Given the description of an element on the screen output the (x, y) to click on. 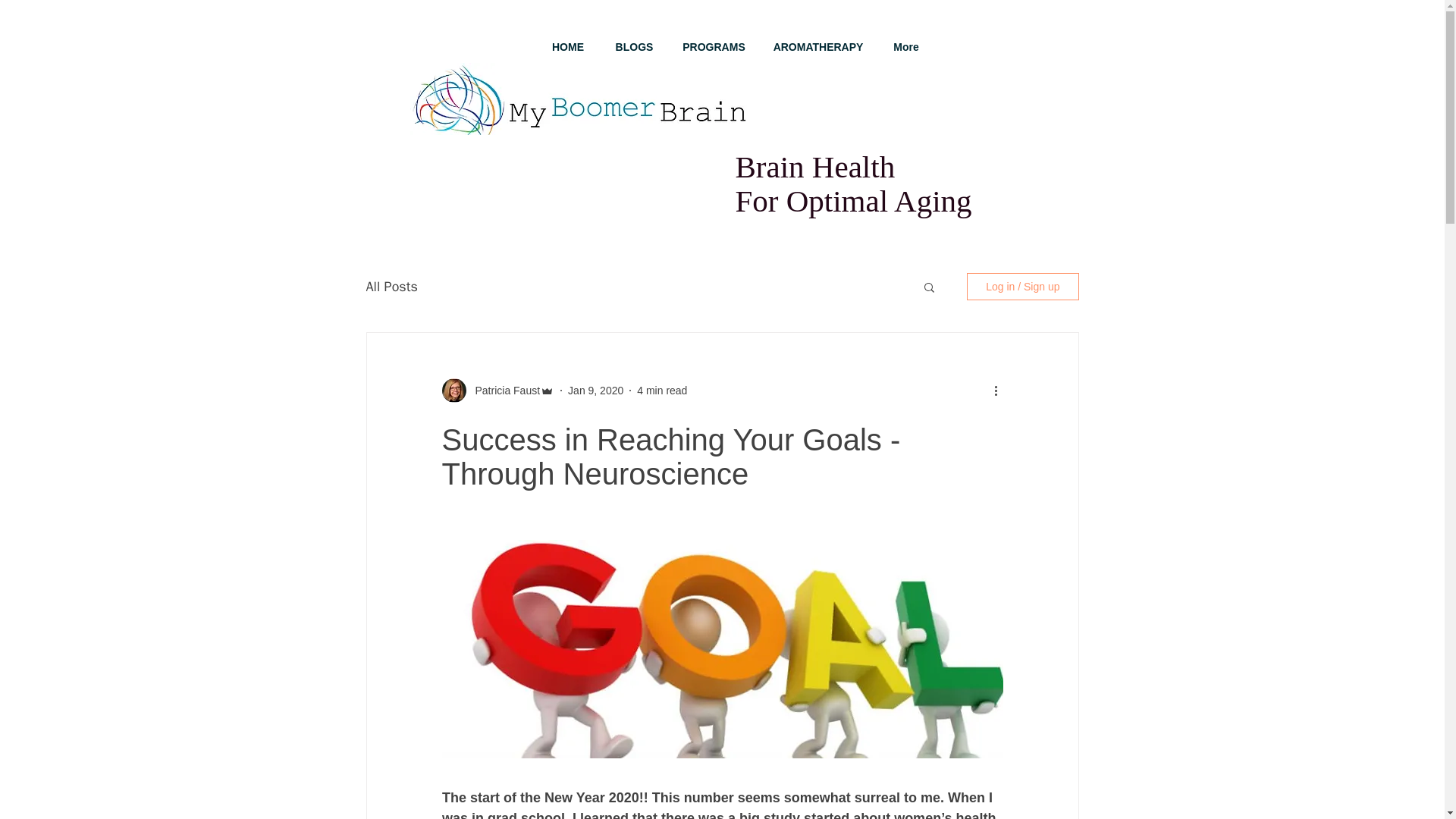
BLOGS (633, 47)
4 min read (662, 390)
AROMATHERAPY (818, 47)
All Posts (390, 286)
PROGRAMS (714, 47)
Patricia Faust (502, 390)
Jan 9, 2020 (595, 390)
HOME (567, 47)
